Given the description of an element on the screen output the (x, y) to click on. 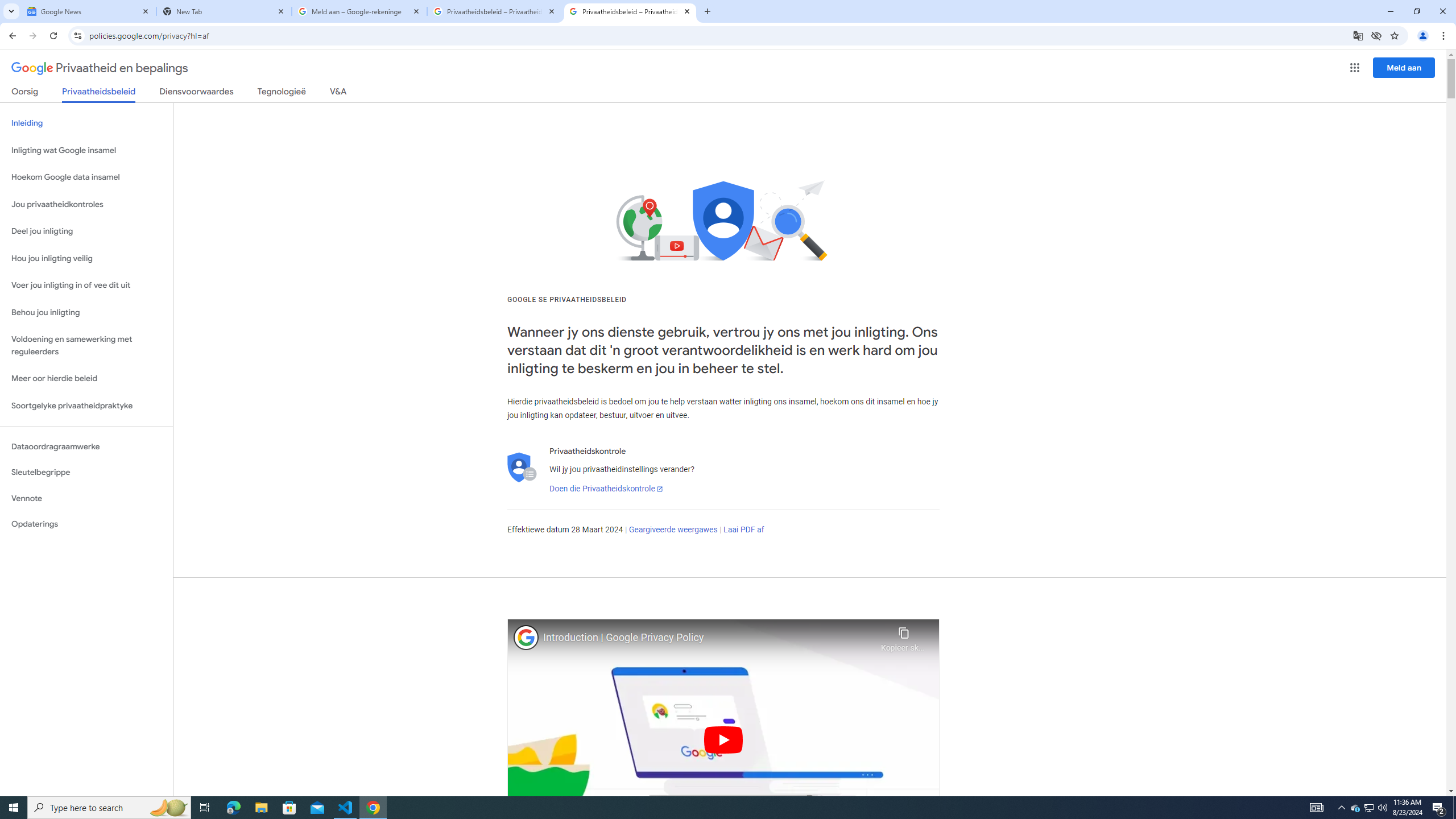
Next Footnote (266, 91)
Cancel (1383, 279)
Undo Apply Quick Style Set (165, 18)
Editing (1355, 48)
